Given the description of an element on the screen output the (x, y) to click on. 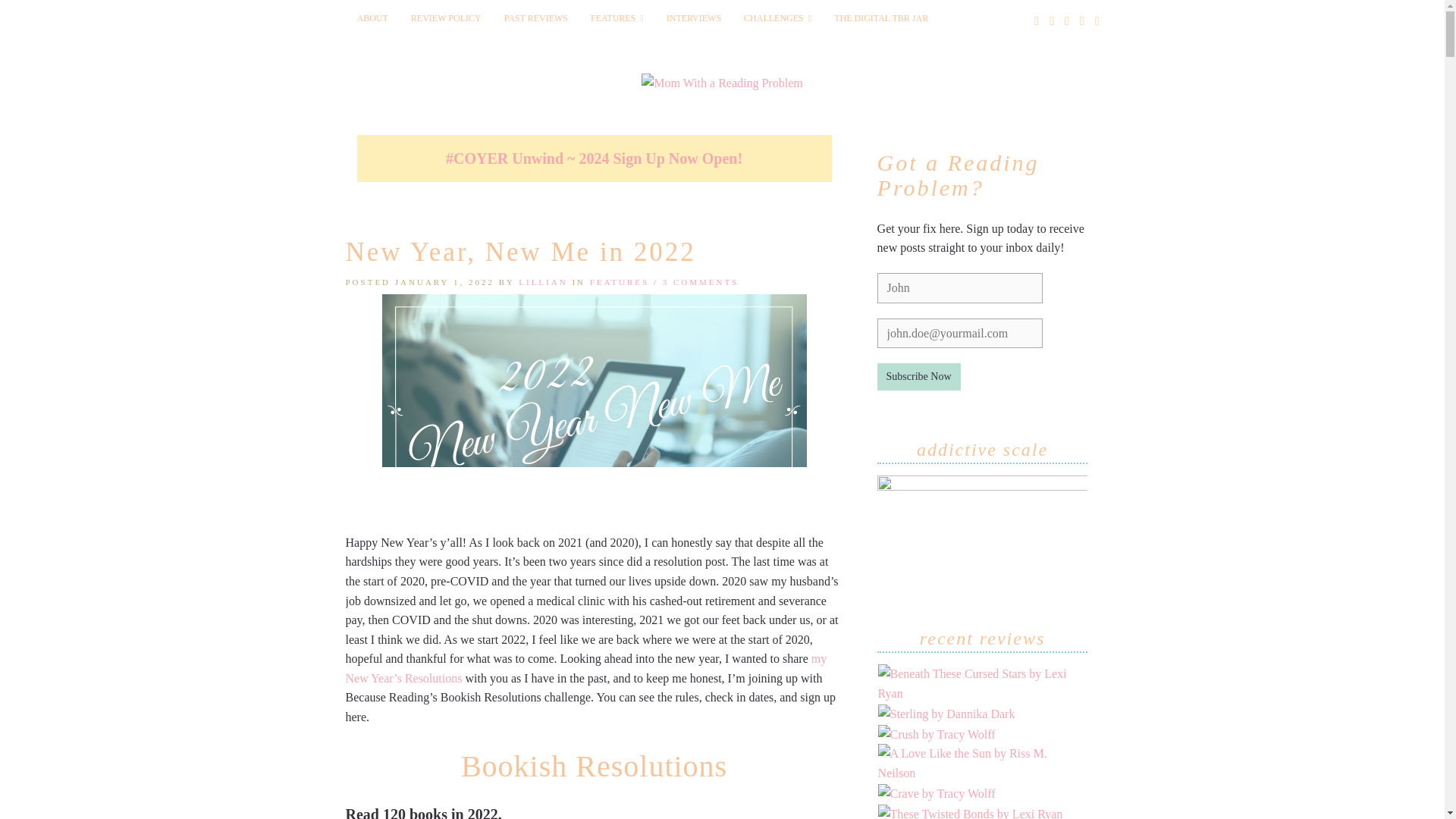
FEATURES (619, 281)
INTERVIEWS (693, 18)
THE DIGITAL TBR JAR (880, 18)
Challenges (777, 18)
REVIEW POLICY (445, 18)
Subscribe Now (918, 376)
3 COMMENTS (700, 281)
PAST REVIEWS (536, 18)
View all posts in Features (619, 281)
FEATURES   (617, 18)
ABOUT (372, 18)
LILLIAN (542, 281)
CHALLENGES   (777, 18)
